Given the description of an element on the screen output the (x, y) to click on. 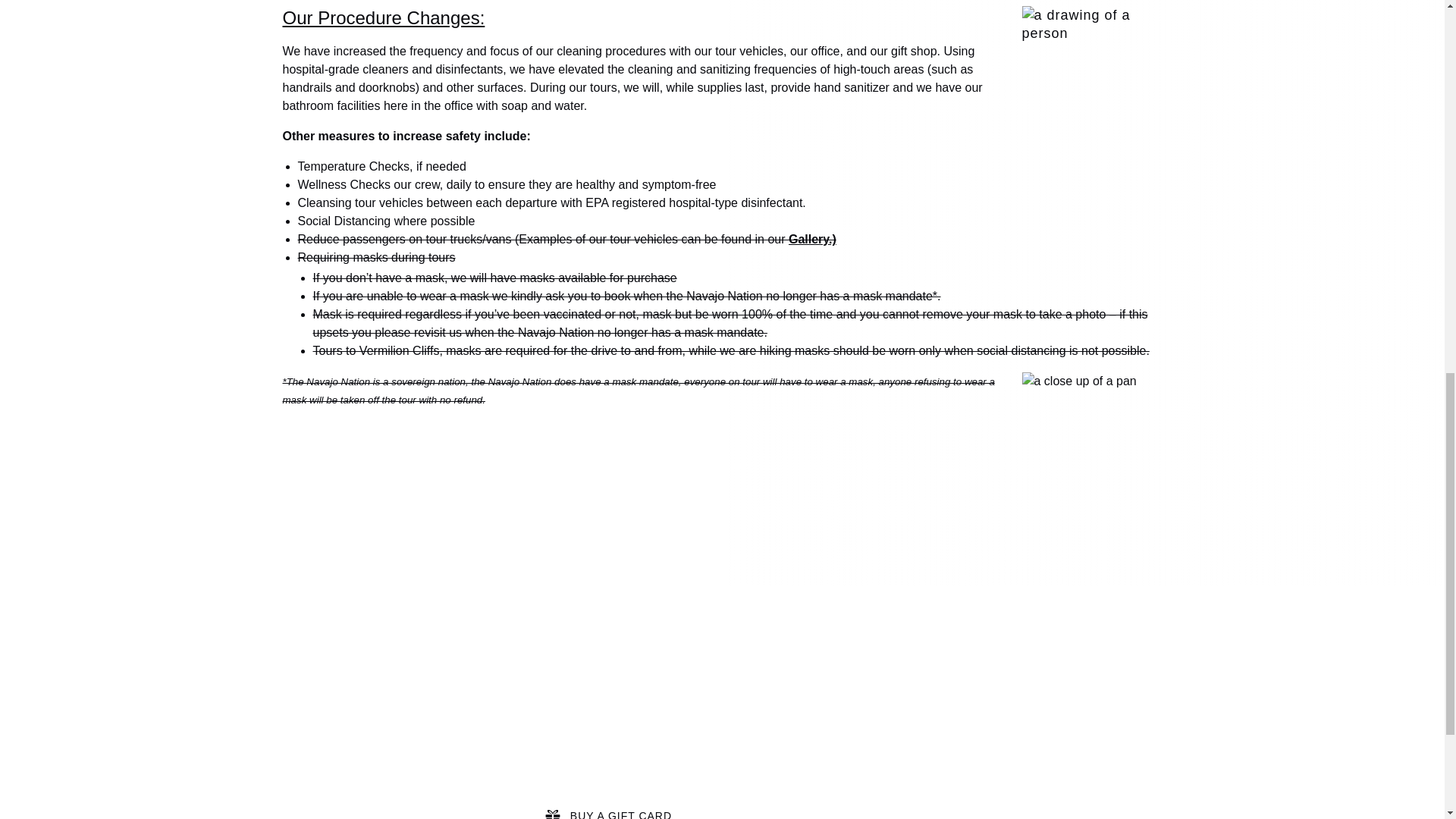
FAQ (521, 751)
SIGHTSEEING TOUR (569, 715)
22 S Lake Powell Blvd, Page, AZ (392, 767)
HOME (527, 697)
GIFT BUY A GIFT CARD (607, 808)
Phone (290, 698)
GIFT (552, 814)
VERMILION ADVENTURES (585, 733)
Map Marker (290, 760)
Envelope (290, 729)
